Given the description of an element on the screen output the (x, y) to click on. 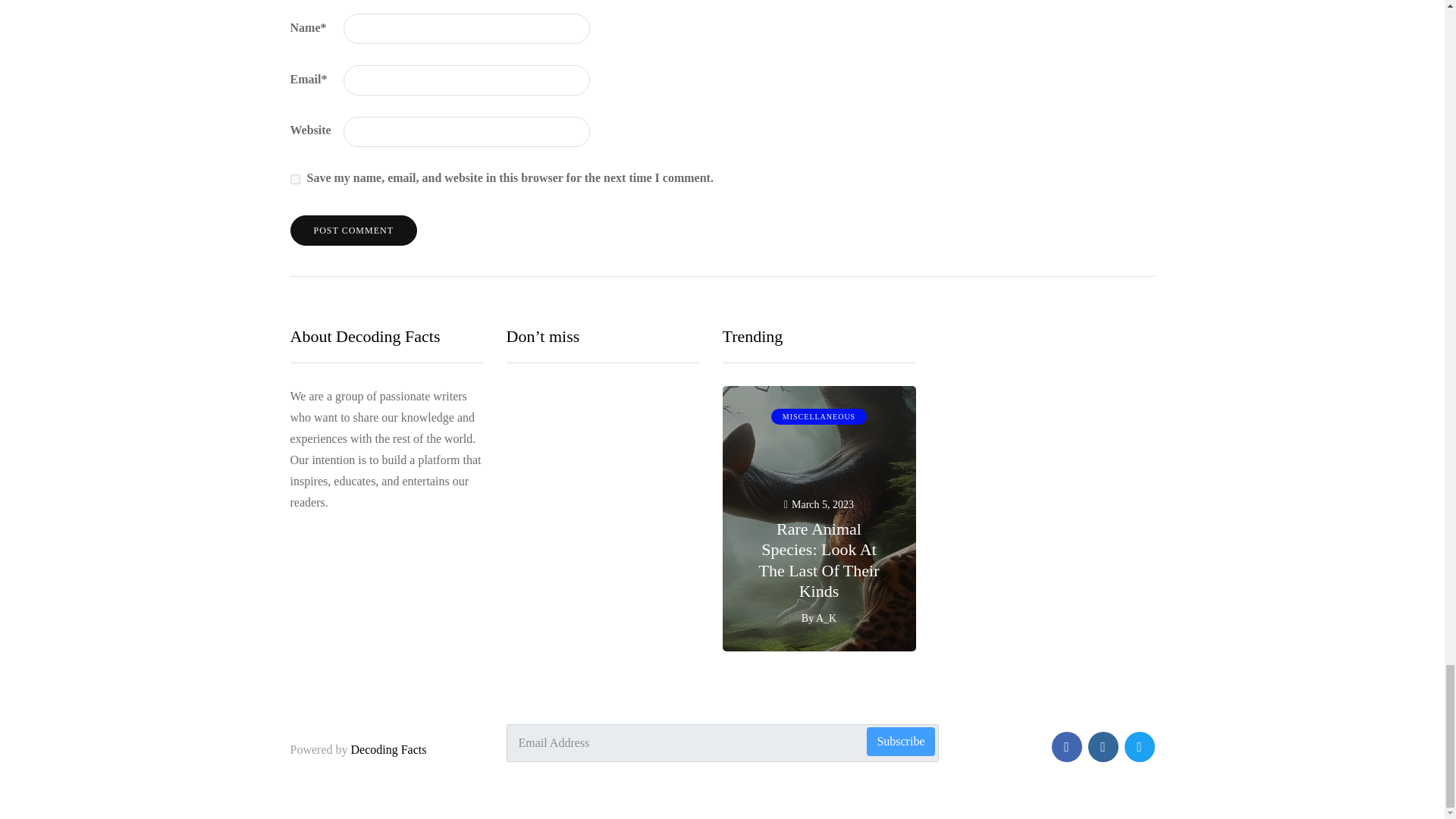
Post comment (352, 230)
yes (294, 179)
